Given the description of an element on the screen output the (x, y) to click on. 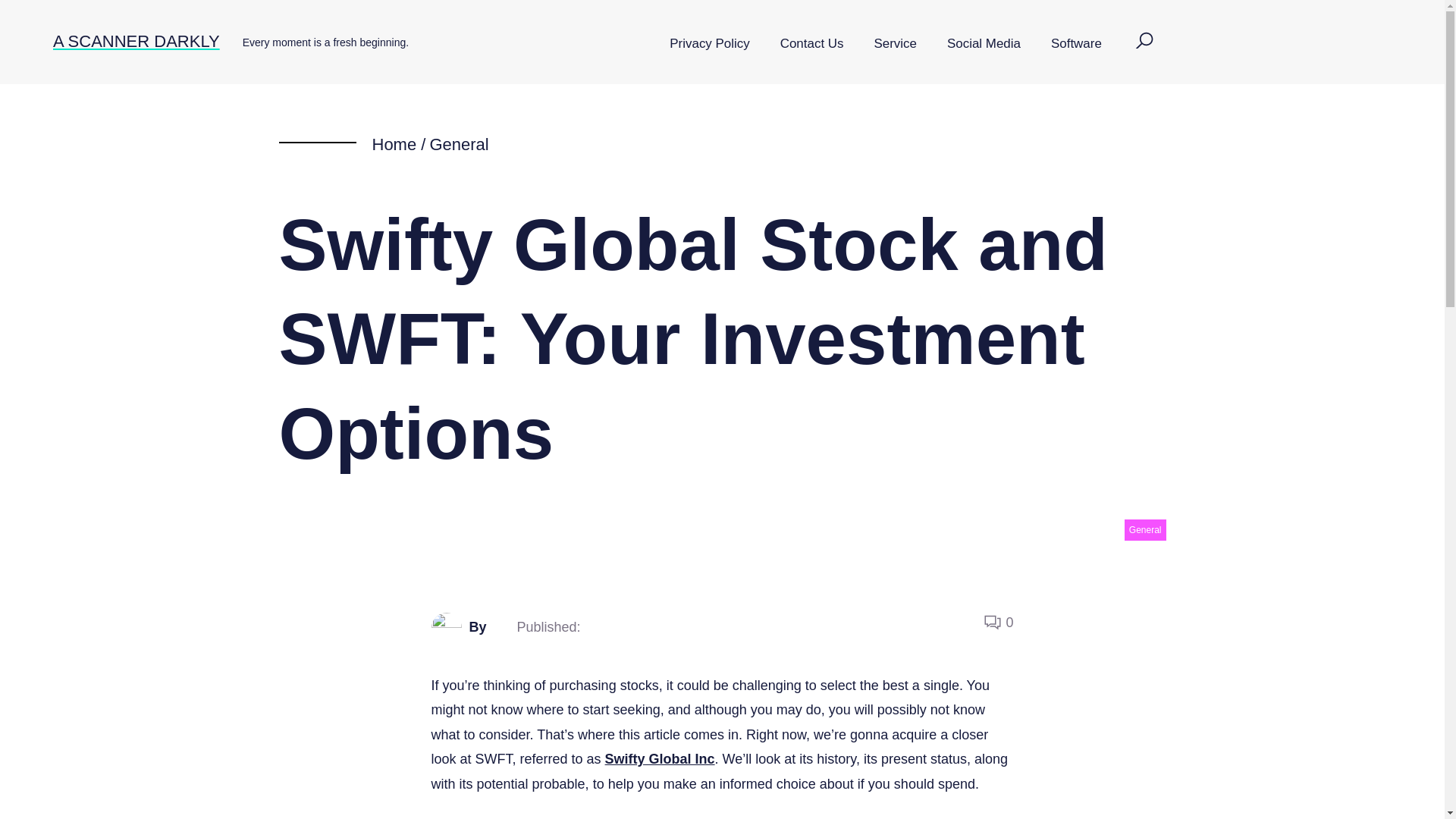
Home (393, 144)
A SCANNER DARKLY (135, 40)
General (458, 144)
Privacy Policy (708, 43)
Contact Us (812, 43)
Swifty Global Inc (659, 758)
Software (1075, 43)
Social Media (983, 43)
Service (895, 43)
General (1145, 529)
